Given the description of an element on the screen output the (x, y) to click on. 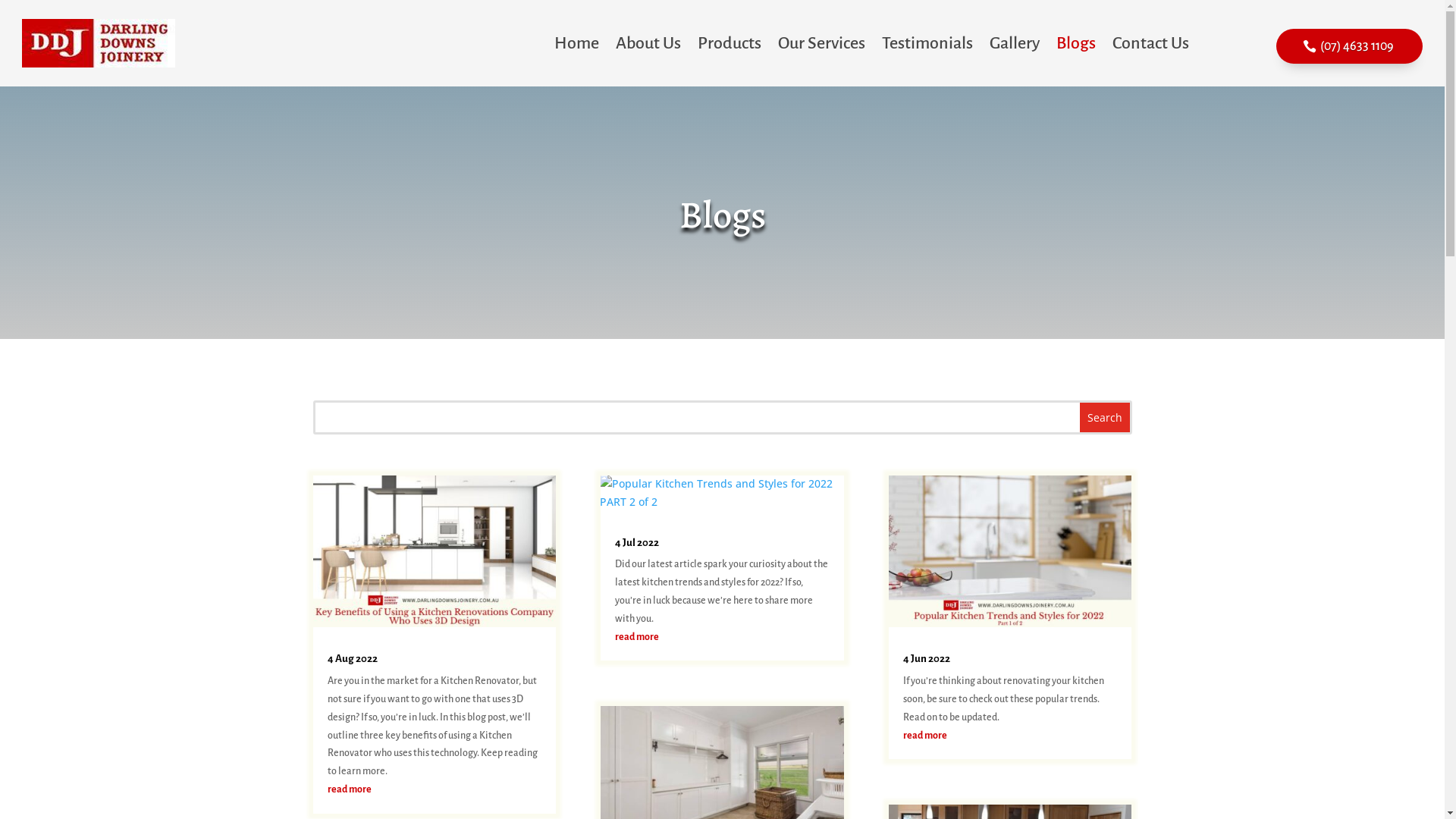
Contact Us Element type: text (1150, 43)
Our Services Element type: text (821, 43)
read more Element type: text (349, 789)
About Us Element type: text (647, 43)
read more Element type: text (636, 636)
Testimonials Element type: text (926, 43)
Search Element type: text (1104, 417)
Gallery Element type: text (1014, 43)
Home Element type: text (576, 43)
(07) 4633 1109 Element type: text (1349, 45)
Products Element type: text (729, 43)
Blogs Element type: text (1075, 43)
read more Element type: text (925, 735)
